Given the description of an element on the screen output the (x, y) to click on. 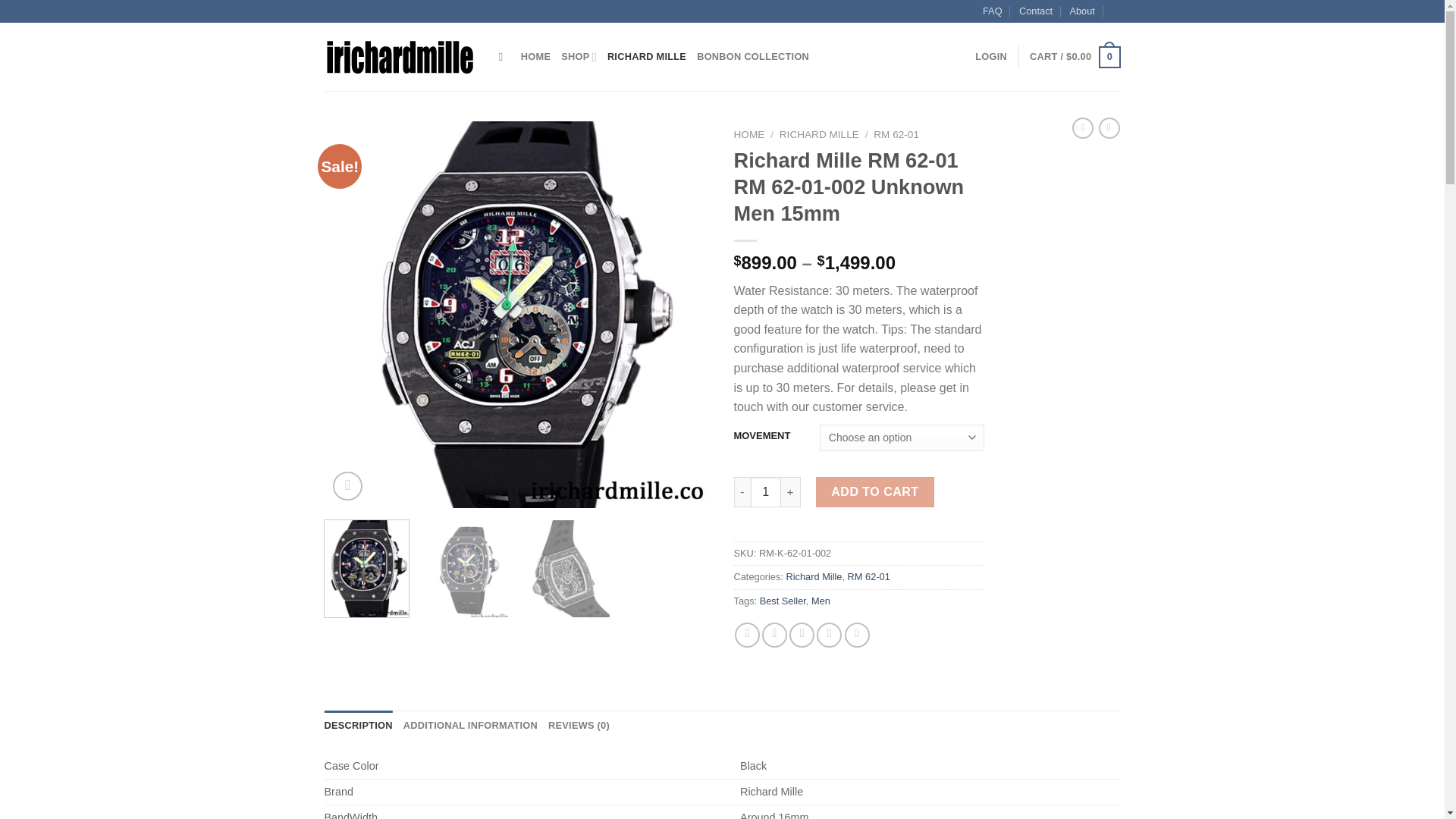
Contact (1035, 11)
Share on Facebook (747, 634)
Qty (765, 491)
Zoom (347, 486)
Cart (1074, 57)
SHOP (578, 56)
About (1081, 11)
HOME (535, 56)
